Given the description of an element on the screen output the (x, y) to click on. 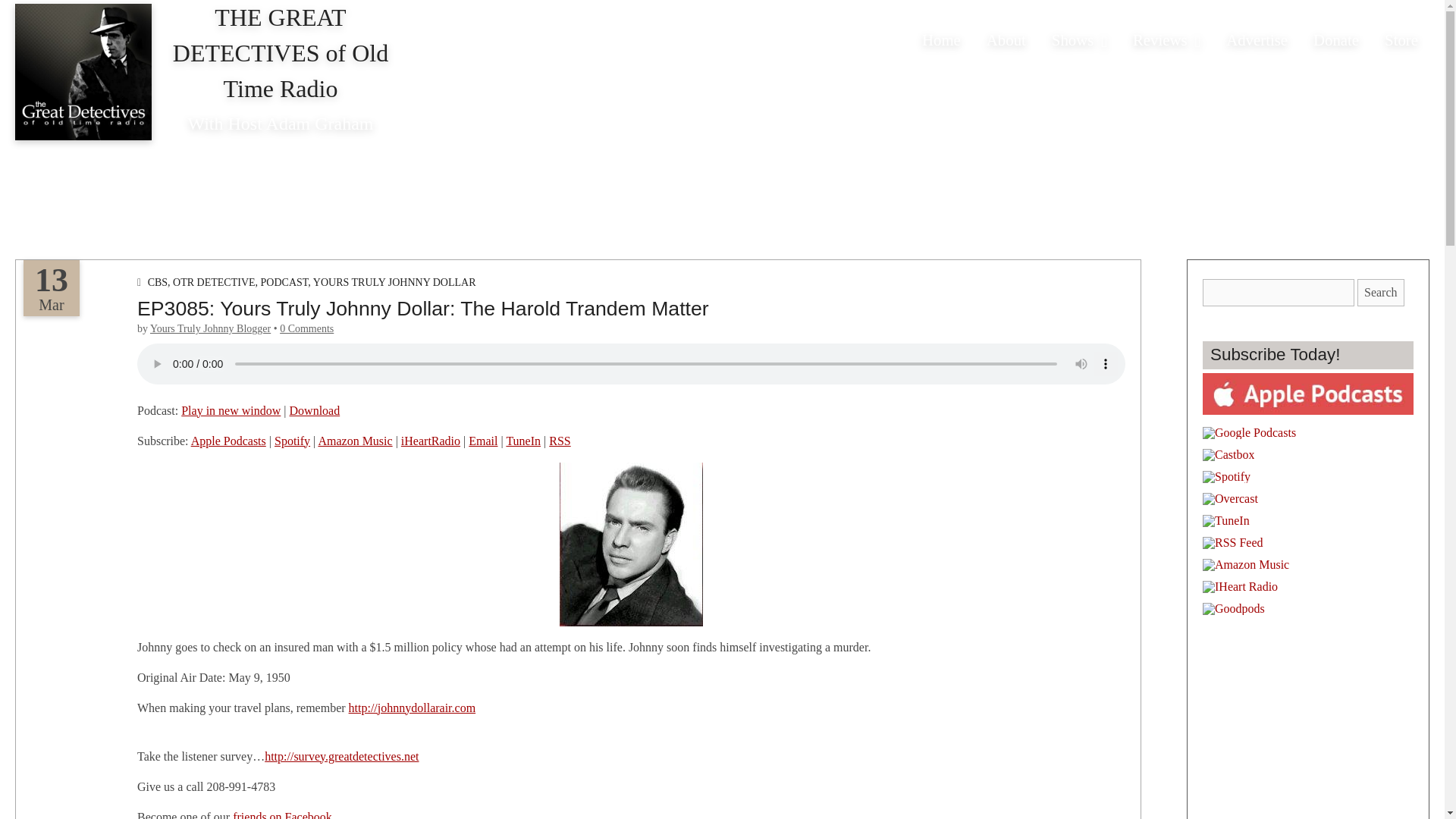
Subscribe via RSS (559, 440)
Search (1380, 292)
THE GREAT DETECTIVES of Old Time Radio (280, 53)
Home (941, 39)
SKIP TO CONTENT (962, 27)
Subscribe on Spotify (292, 440)
Posts by Yours Truly Johnny Blogger (209, 328)
Download (314, 410)
About (1005, 39)
Subscribe on TuneIn (522, 440)
